Given the description of an element on the screen output the (x, y) to click on. 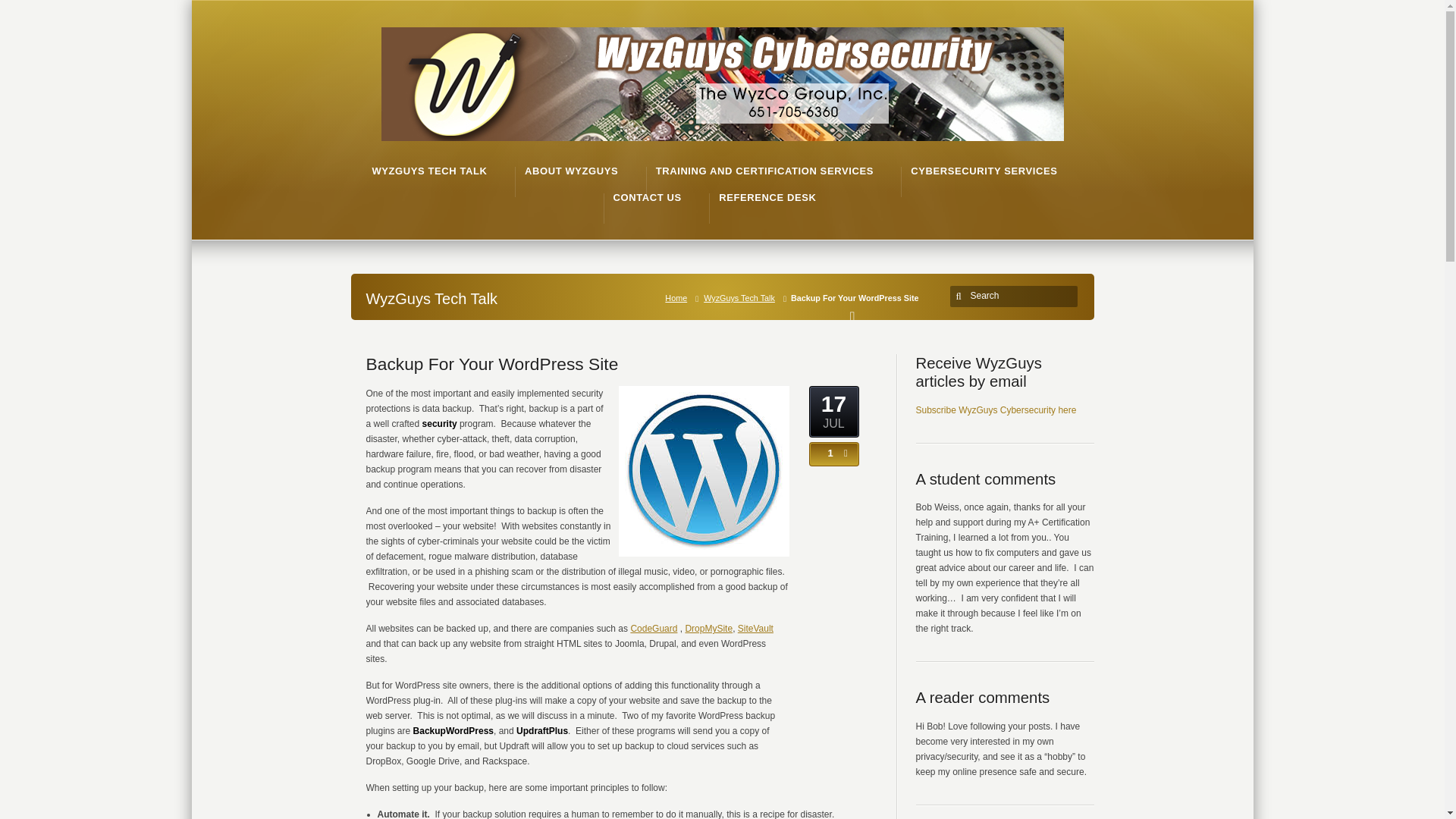
WyzGuys Tech Talk (742, 297)
REFERENCE DESK (767, 197)
Backup For Your WordPress Site (491, 363)
Search (1016, 295)
DropMySite (708, 628)
WYZGUYS TECH TALK (428, 171)
CONTACT US (646, 197)
Backup For Your WordPress Site (491, 363)
SiteVault (755, 628)
TRAINING AND CERTIFICATION SERVICES (764, 171)
Home (678, 297)
CYBERSECURITY SERVICES (984, 171)
ABOUT WYZGUYS (570, 171)
CodeGuard (653, 628)
